Given the description of an element on the screen output the (x, y) to click on. 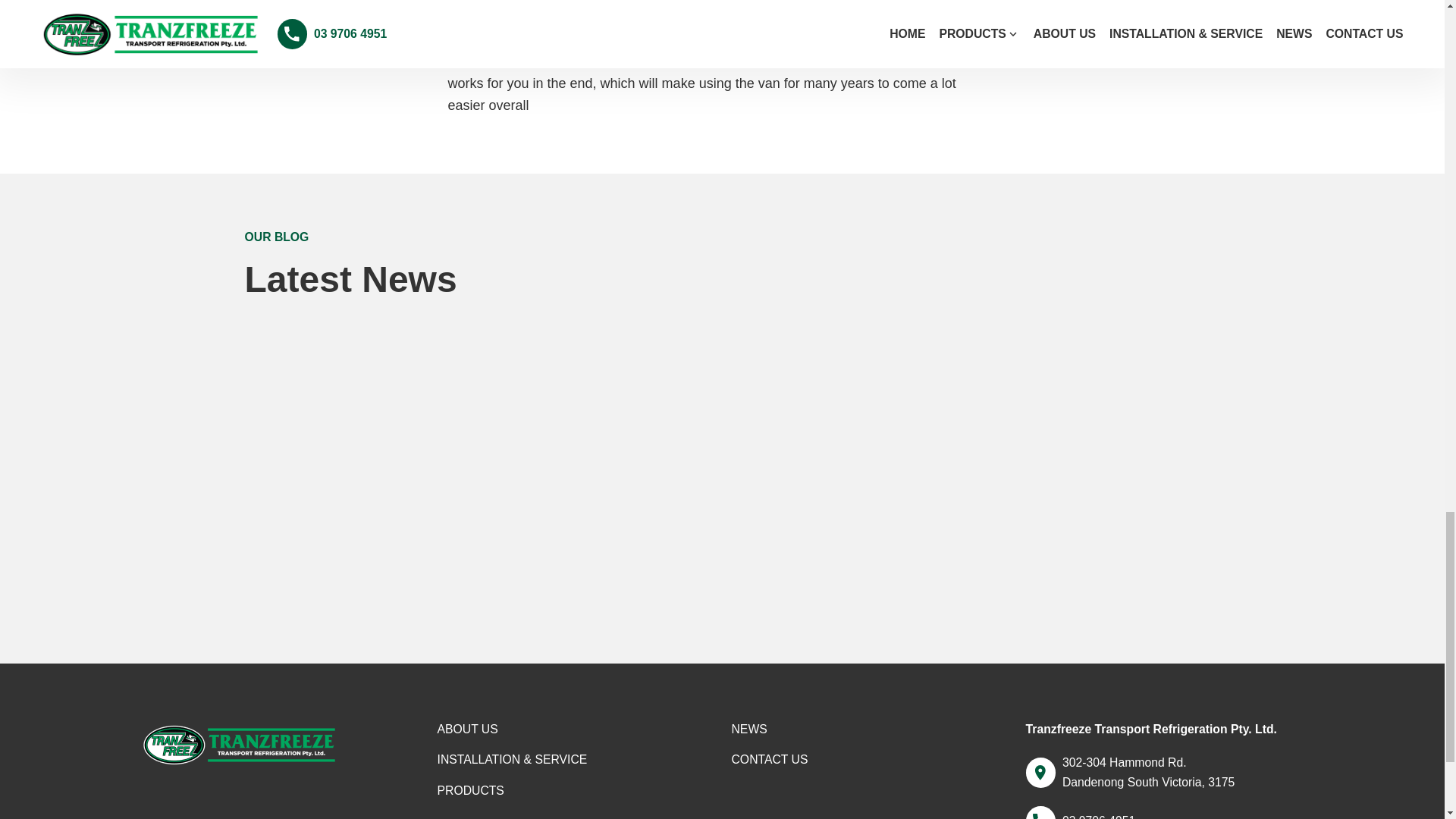
03 9706 4951 (1080, 812)
ABOUT US (466, 729)
302-304 Hammond Rd. Dandenong South Victoria, 3175 (1163, 772)
PRODUCTS (469, 790)
NEWS (748, 729)
CONTACT US (769, 759)
